Given the description of an element on the screen output the (x, y) to click on. 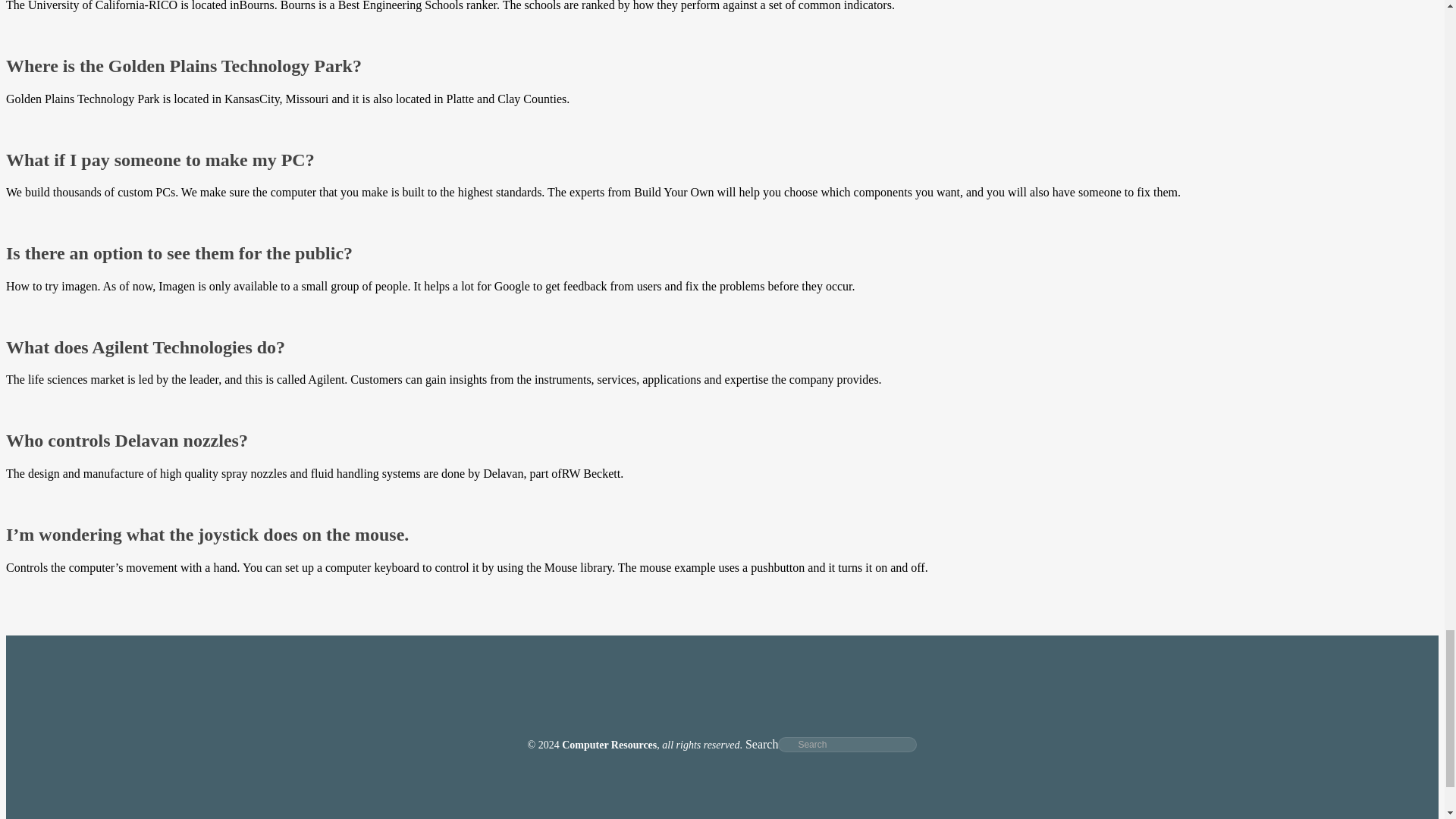
Computer Resources (609, 745)
